Given the description of an element on the screen output the (x, y) to click on. 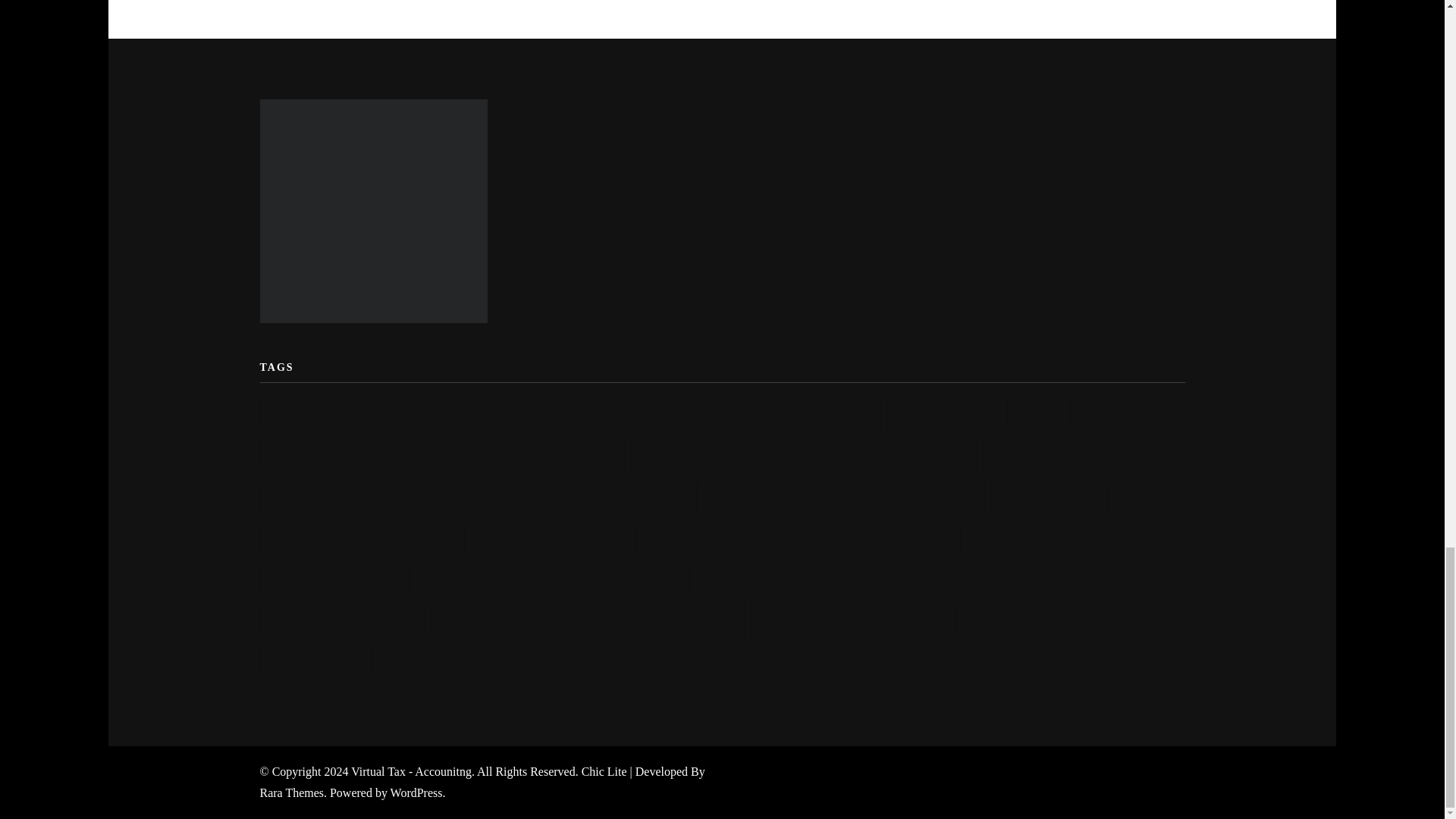
IRP6 (1078, 496)
NON PROFIT COMPANY (547, 537)
COMPANY REGISTRATION (533, 455)
DEPARTMENT OF LABOUR (721, 455)
EMPLOYEE TAX (1043, 455)
ANNUAL FINANCIAL STATEMENTS (490, 414)
COIDA (1110, 414)
PAYE RECON (752, 537)
BOOKKEEPING (821, 414)
COMPANY AMENDMENTS (347, 455)
CAPITAL GAINS (946, 414)
INCOME TAX (932, 496)
AUDITS (720, 414)
PAYE (664, 537)
EMP501 (940, 455)
